Given the description of an element on the screen output the (x, y) to click on. 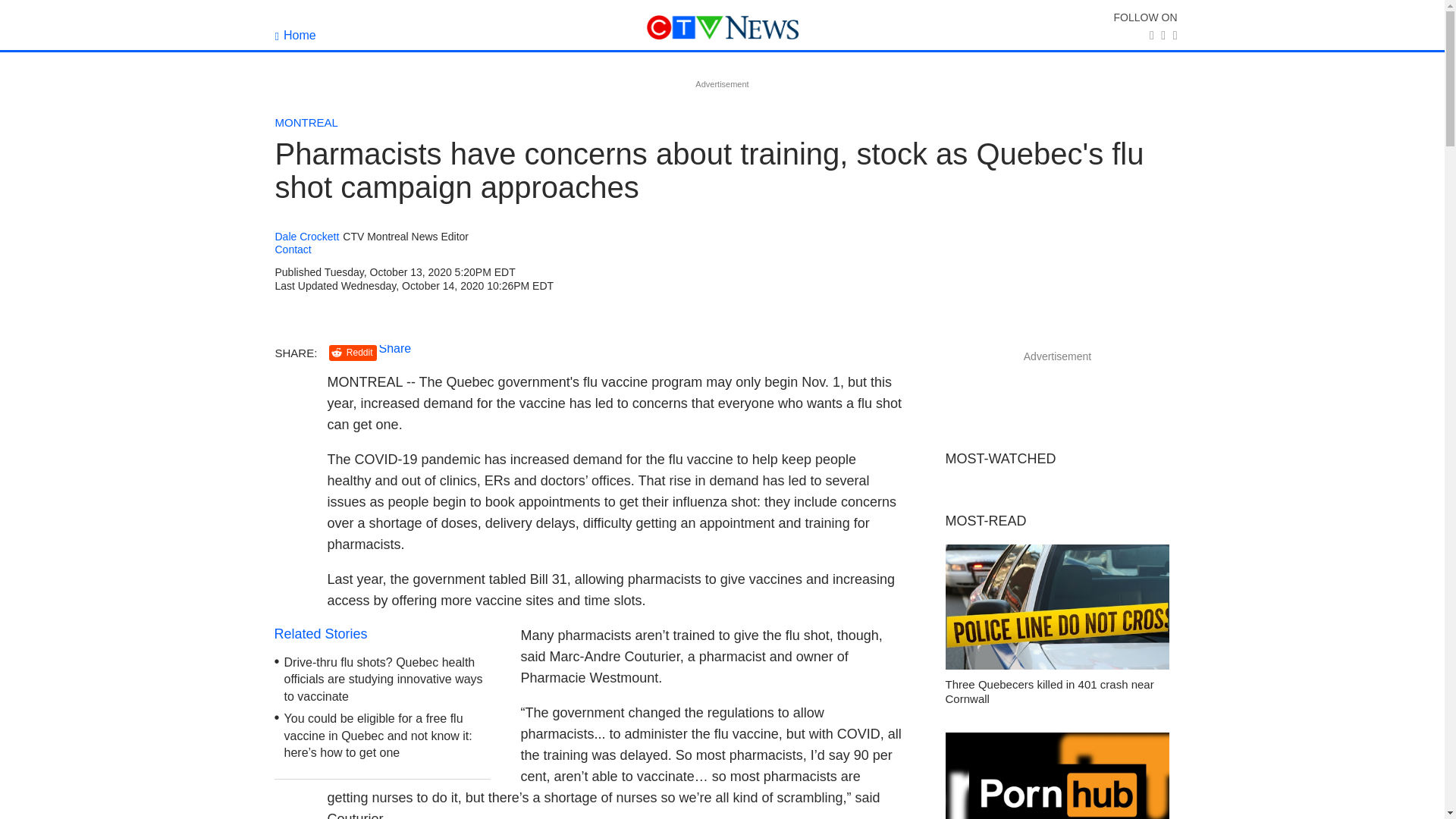
Share (395, 348)
Contact (293, 249)
Home (295, 34)
Dale Crockett (307, 236)
MONTREAL (306, 122)
Reddit (353, 352)
